Given the description of an element on the screen output the (x, y) to click on. 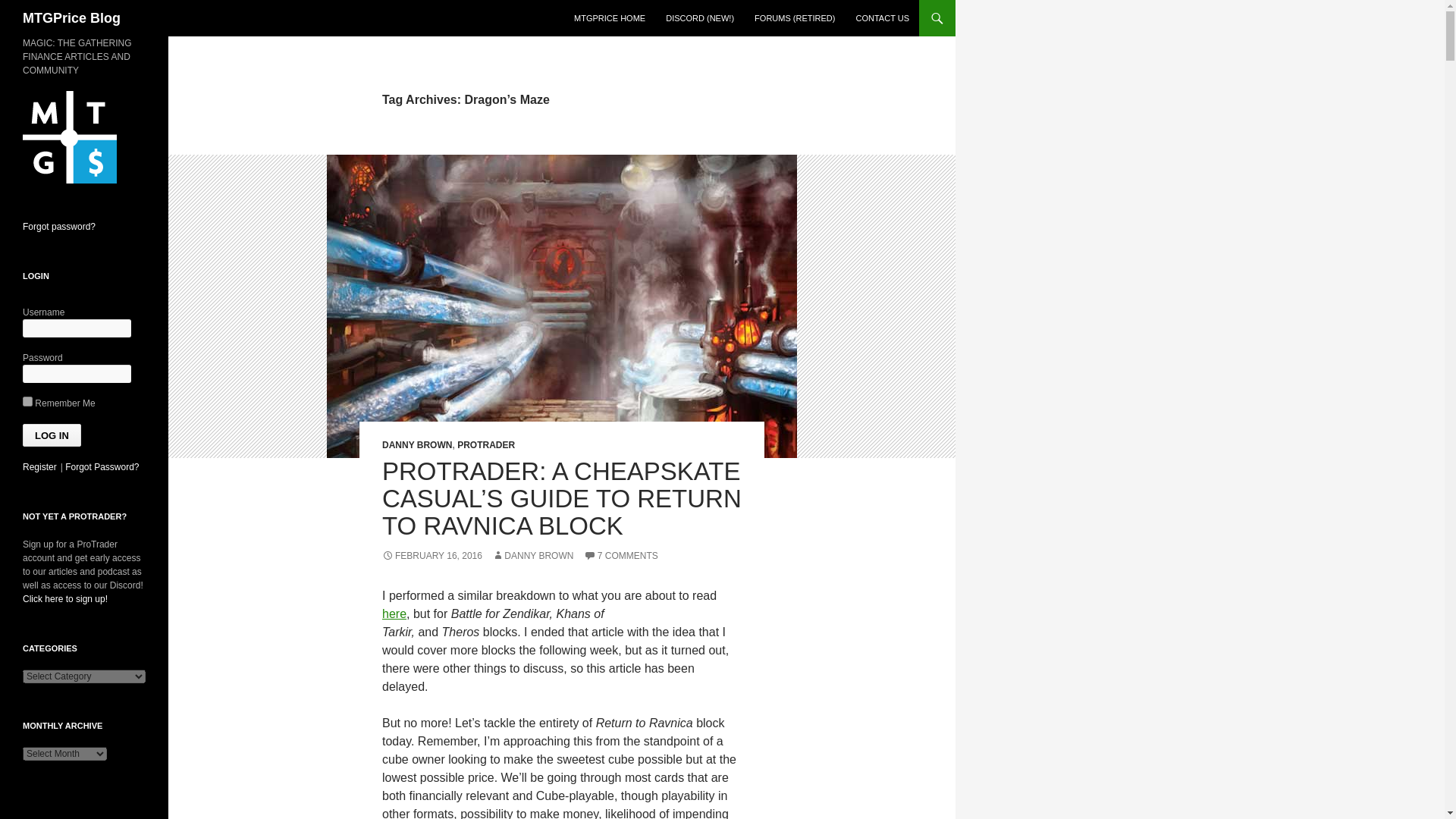
MTGPRICE HOME (608, 18)
PROTRADER (486, 444)
Register (39, 466)
forever (27, 401)
Log In (52, 435)
7 COMMENTS (620, 555)
CONTACT US (881, 18)
Forgot Password (101, 466)
MTGPrice Blog (71, 18)
FEBRUARY 16, 2016 (431, 555)
DANNY BROWN (416, 444)
DANNY BROWN (532, 555)
here (393, 613)
